Given the description of an element on the screen output the (x, y) to click on. 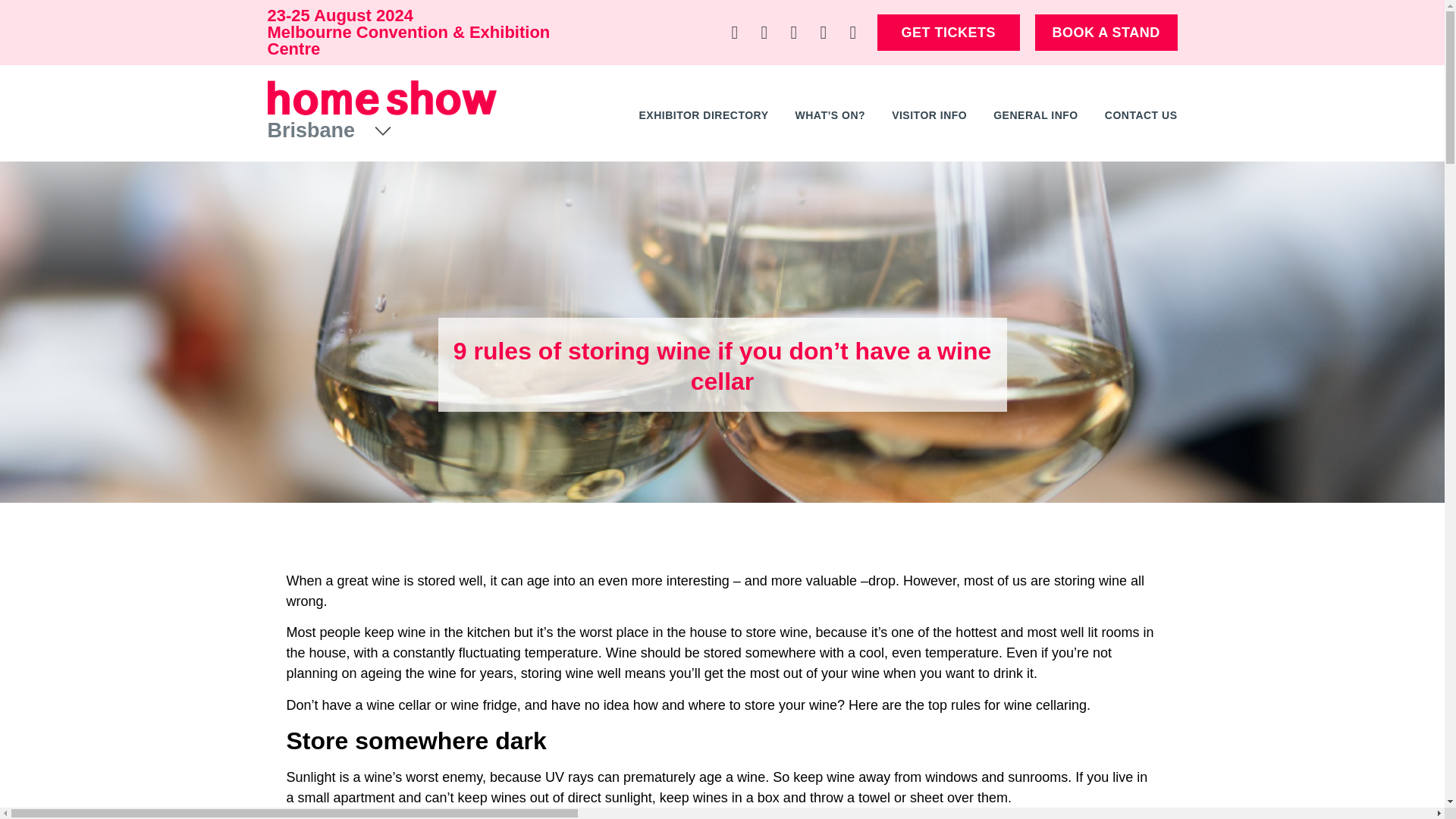
GET TICKETS (948, 32)
VISITOR INFO (928, 114)
CONTACT US (1141, 114)
GENERAL INFO (1035, 114)
EXHIBITOR DIRECTORY (703, 114)
BOOK A STAND (1106, 32)
